Given the description of an element on the screen output the (x, y) to click on. 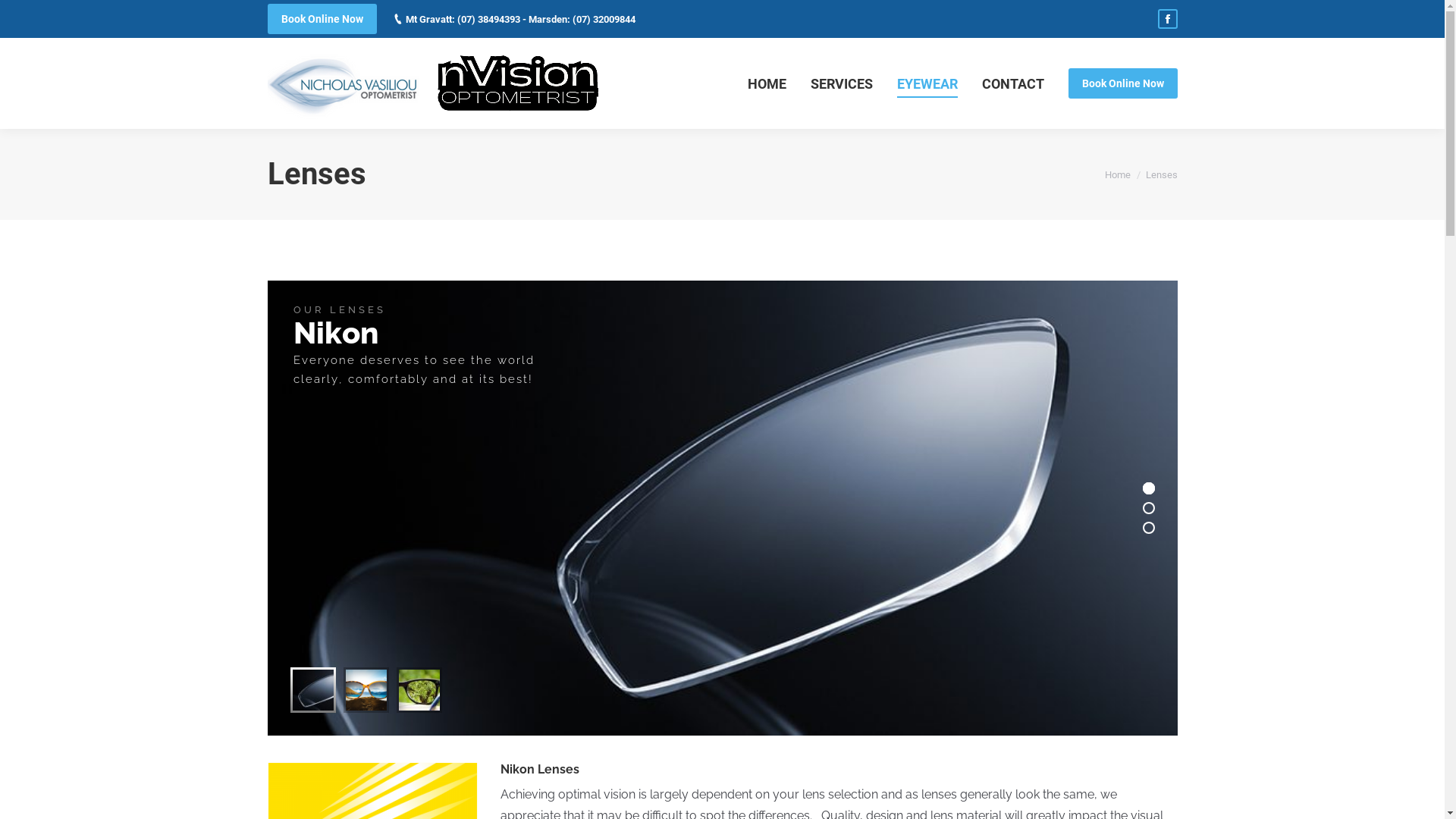
SERVICES Element type: text (840, 83)
Book Online Now Element type: text (321, 18)
Home Element type: text (1116, 173)
Facebook Element type: text (1166, 18)
Book Online Now Element type: text (1121, 83)
EYEWEAR Element type: text (926, 83)
CONTACT Element type: text (1012, 83)
HOME Element type: text (766, 83)
